Given the description of an element on the screen output the (x, y) to click on. 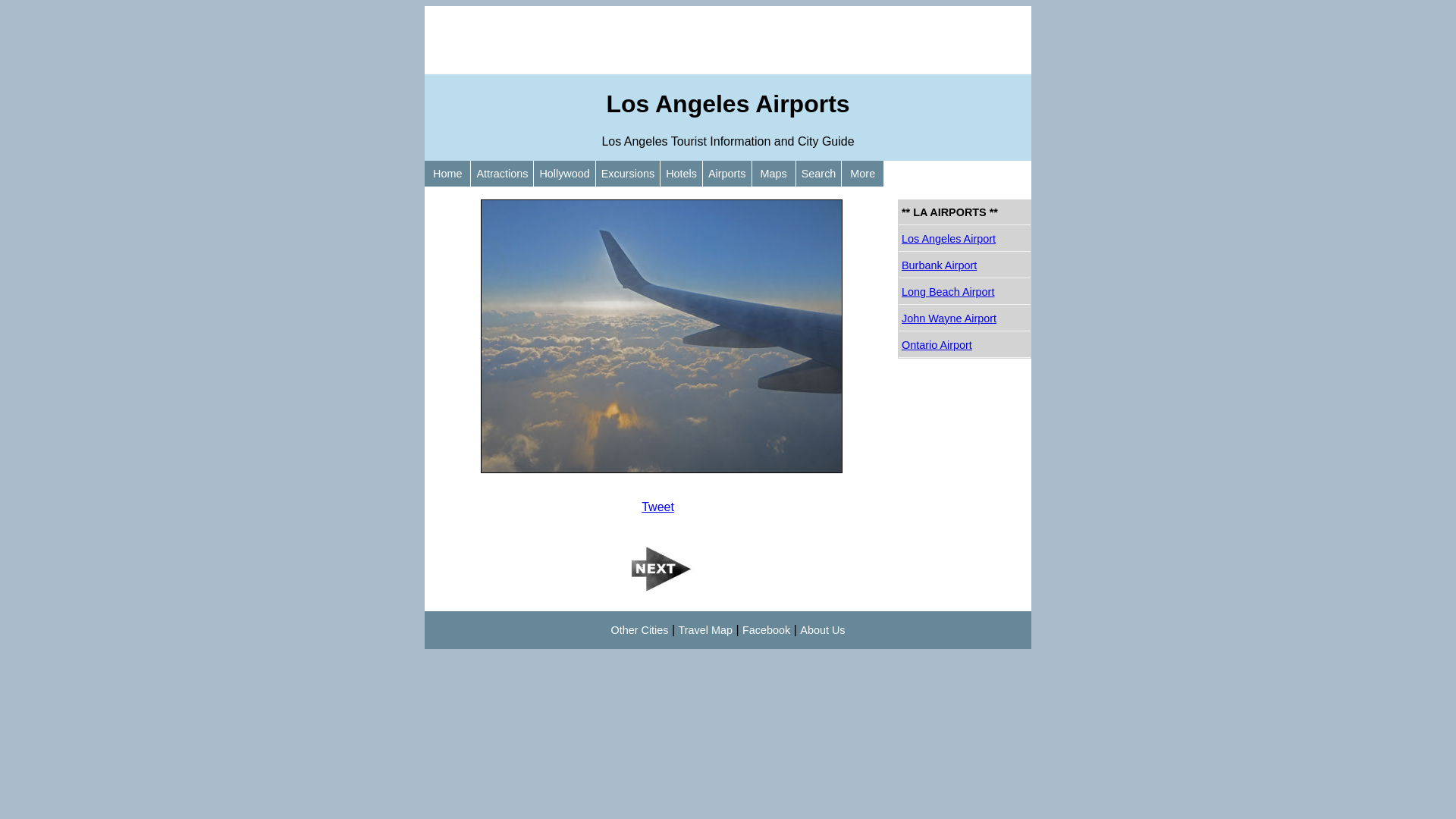
Attractions Element type: text (501, 173)
John Wayne Airport Element type: text (964, 318)
Long Beach Airport Element type: text (964, 291)
 Home  Element type: text (447, 173)
Ontario Airport Element type: text (964, 344)
Advertisement Element type: hover (727, 40)
Tweet Element type: text (657, 506)
** LA AIRPORTS ** Element type: text (964, 212)
Excursions Element type: text (627, 173)
Search Element type: text (818, 173)
 More  Element type: text (862, 173)
Hotels Element type: text (681, 173)
Hollywood Element type: text (563, 173)
Los Angeles Airport Element type: text (964, 238)
 Maps  Element type: text (773, 173)
Facebook Element type: text (766, 630)
About Us Element type: text (822, 630)
Other Cities Element type: text (639, 630)
Burbank Airport Element type: text (964, 265)
Travel Map Element type: text (705, 630)
Airports Element type: text (726, 173)
